Given the description of an element on the screen output the (x, y) to click on. 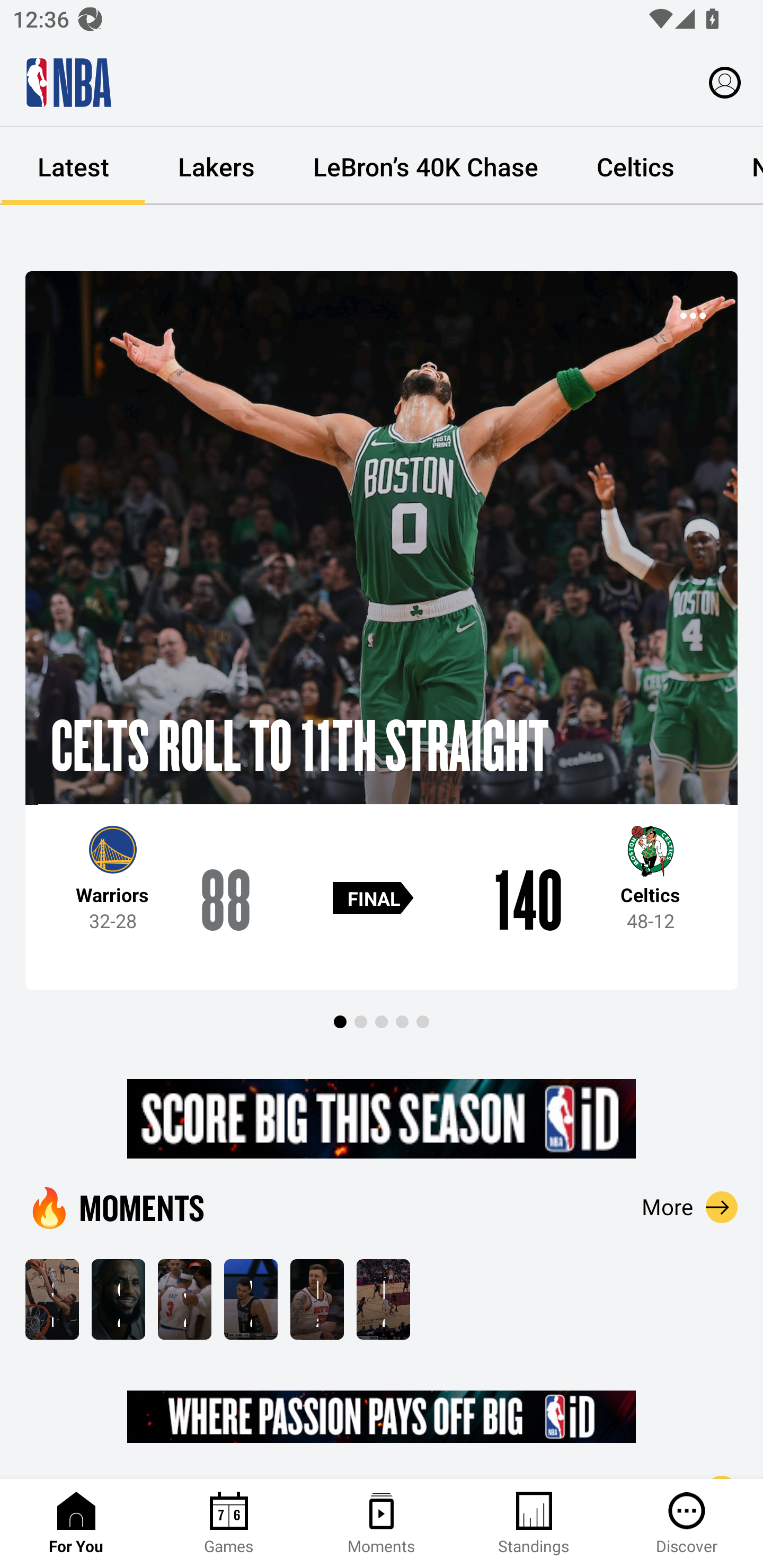
Profile (724, 81)
Lakers (215, 166)
LeBron’s 40K Chase (425, 166)
Celtics (634, 166)
More (689, 1207)
Sunday's Top Plays In 30 Seconds ⏱ (51, 1299)
Hartenstein Drops The Hammer 🔨 (317, 1299)
Games (228, 1523)
Moments (381, 1523)
Standings (533, 1523)
Discover (686, 1523)
